Given the description of an element on the screen output the (x, y) to click on. 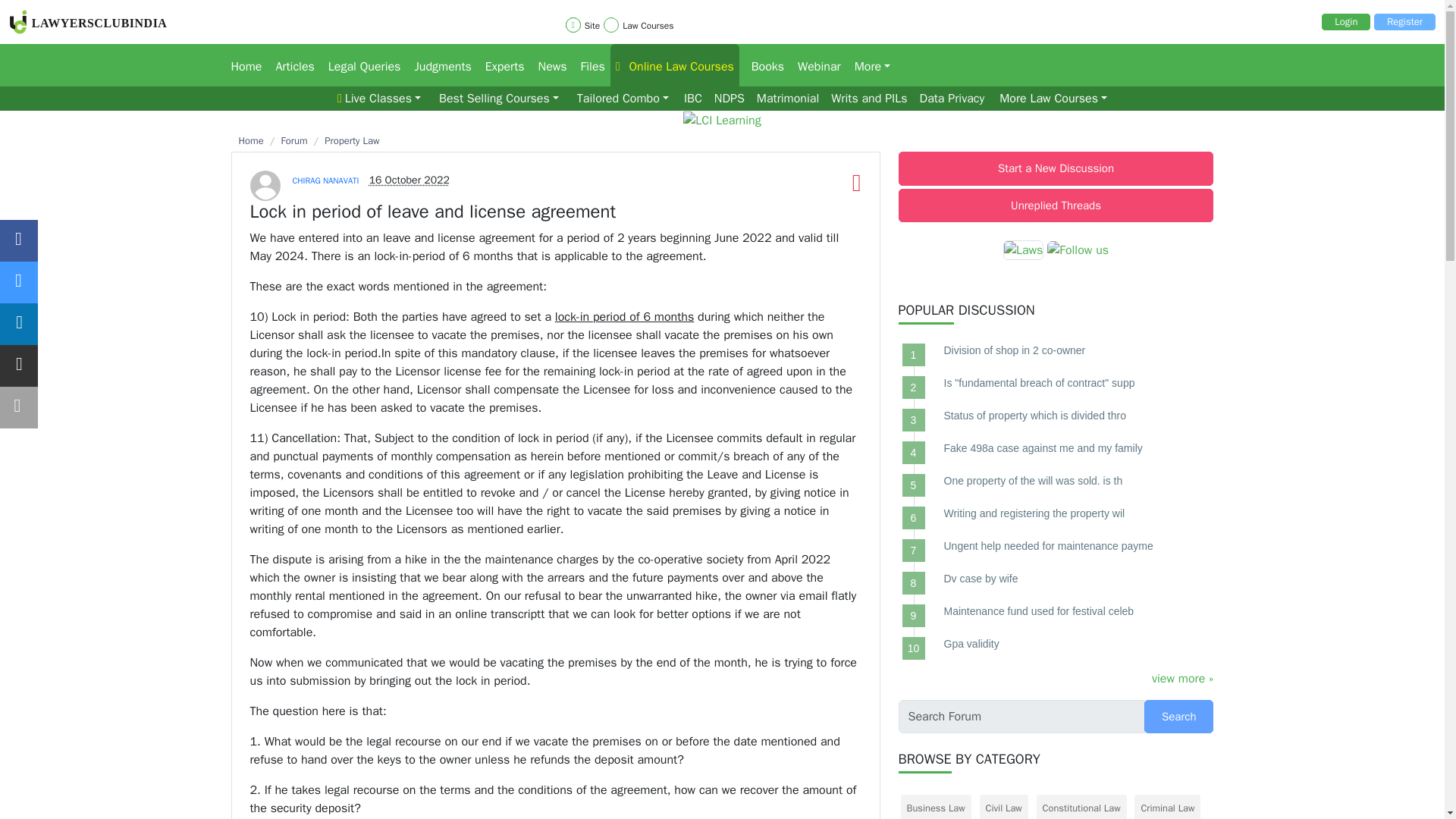
Webinar (814, 65)
Judgments (436, 65)
Books (762, 65)
News (547, 65)
Live Classes (378, 98)
Share Files (589, 65)
Forum (359, 65)
Books (762, 65)
Judgments (436, 65)
News (547, 65)
